Given the description of an element on the screen output the (x, y) to click on. 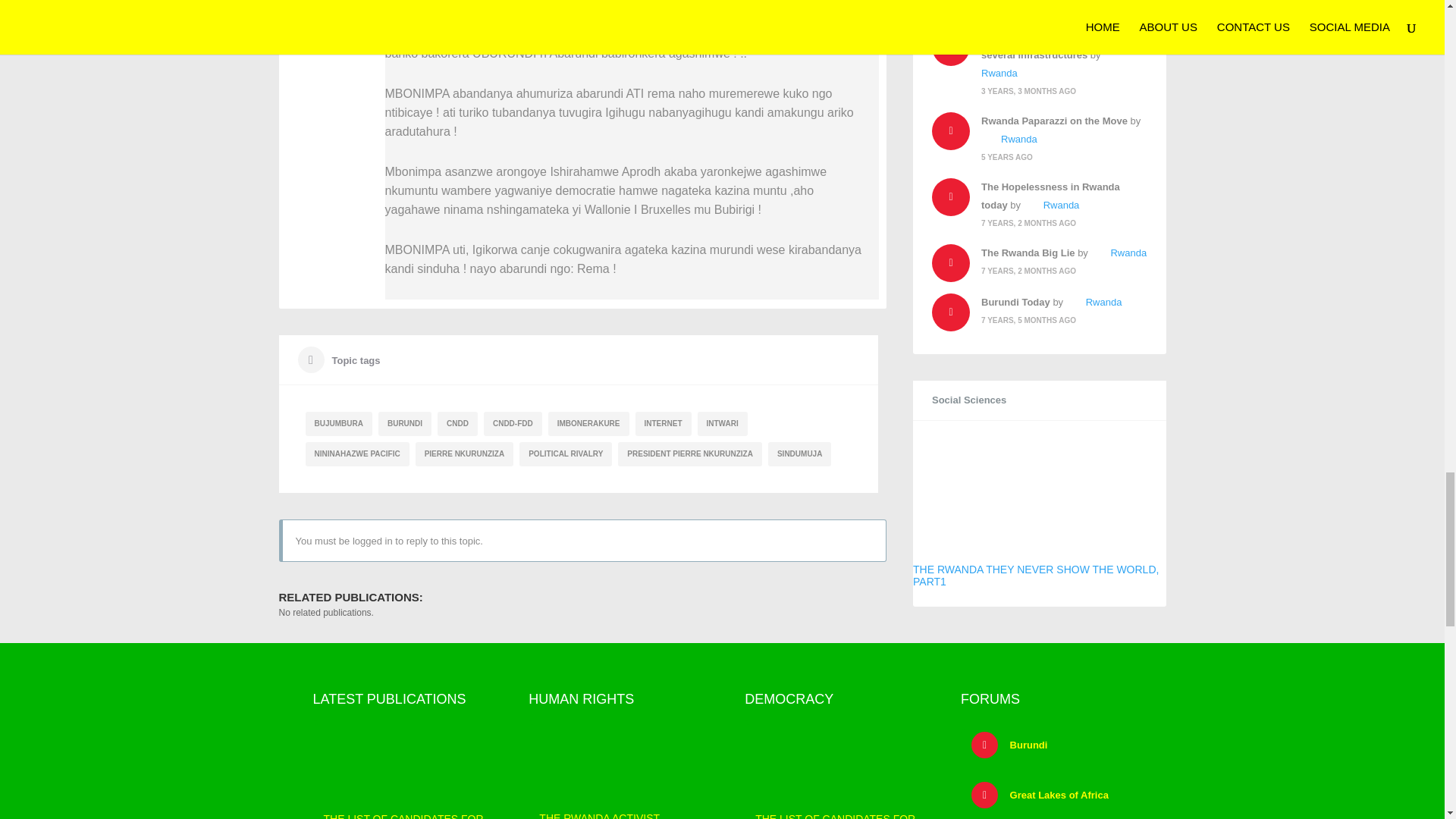
CNDD-FDD (512, 423)
View Rwanda's profile (1051, 204)
PIERRE NKURUNZIZA (463, 454)
View Rwanda's profile (1051, 63)
PRESIDENT PIERRE NKURUNZIZA (689, 454)
INTWARI (722, 423)
View Rwanda's profile (1008, 138)
IMBONERAKURE (588, 423)
CNDD (457, 423)
BUJUMBURA (337, 423)
INTERNET (662, 423)
BURUNDI (404, 423)
POLITICAL RIVALRY (565, 454)
